Given the description of an element on the screen output the (x, y) to click on. 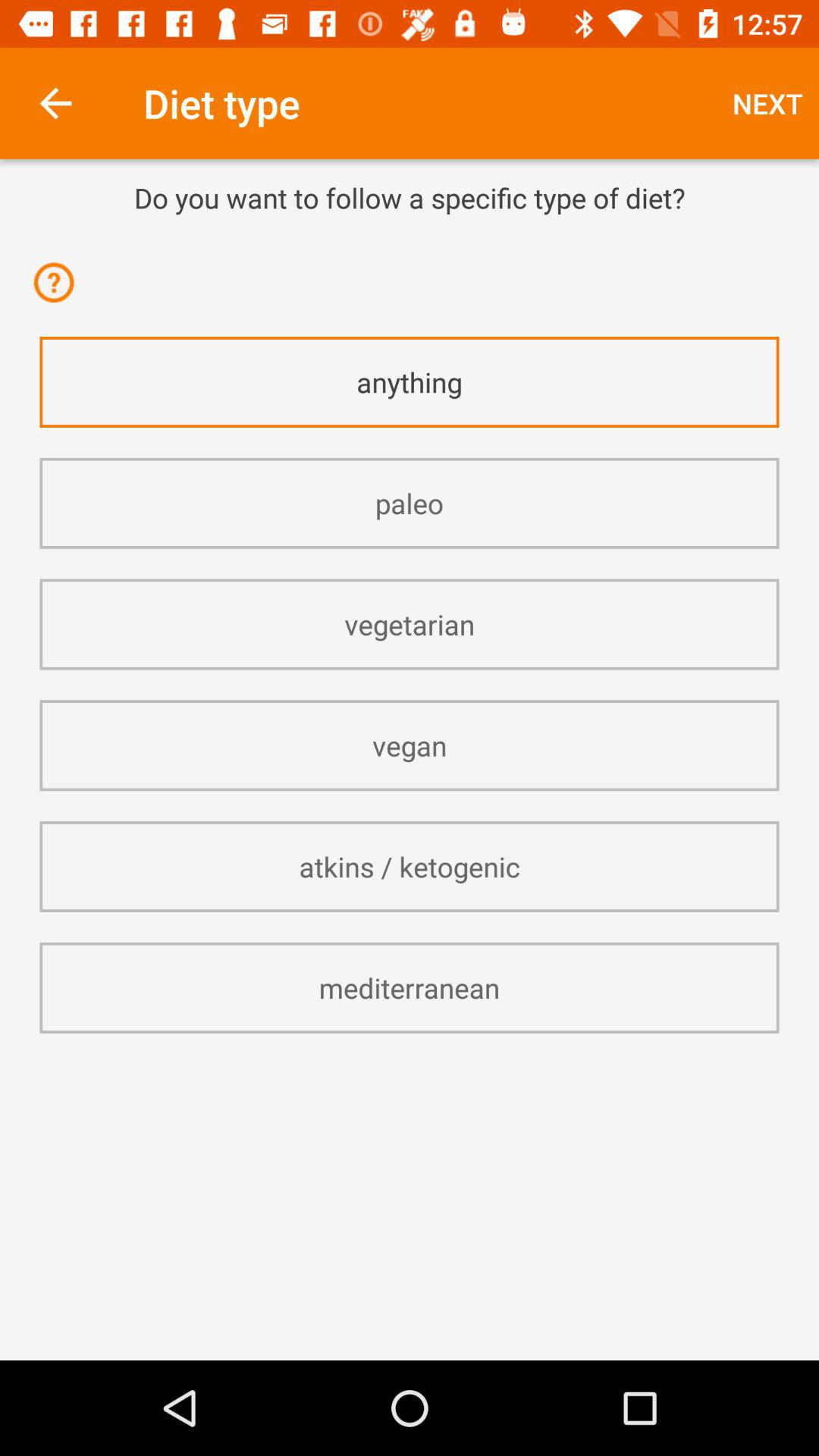
press icon below the mediterranean (409, 1074)
